Given the description of an element on the screen output the (x, y) to click on. 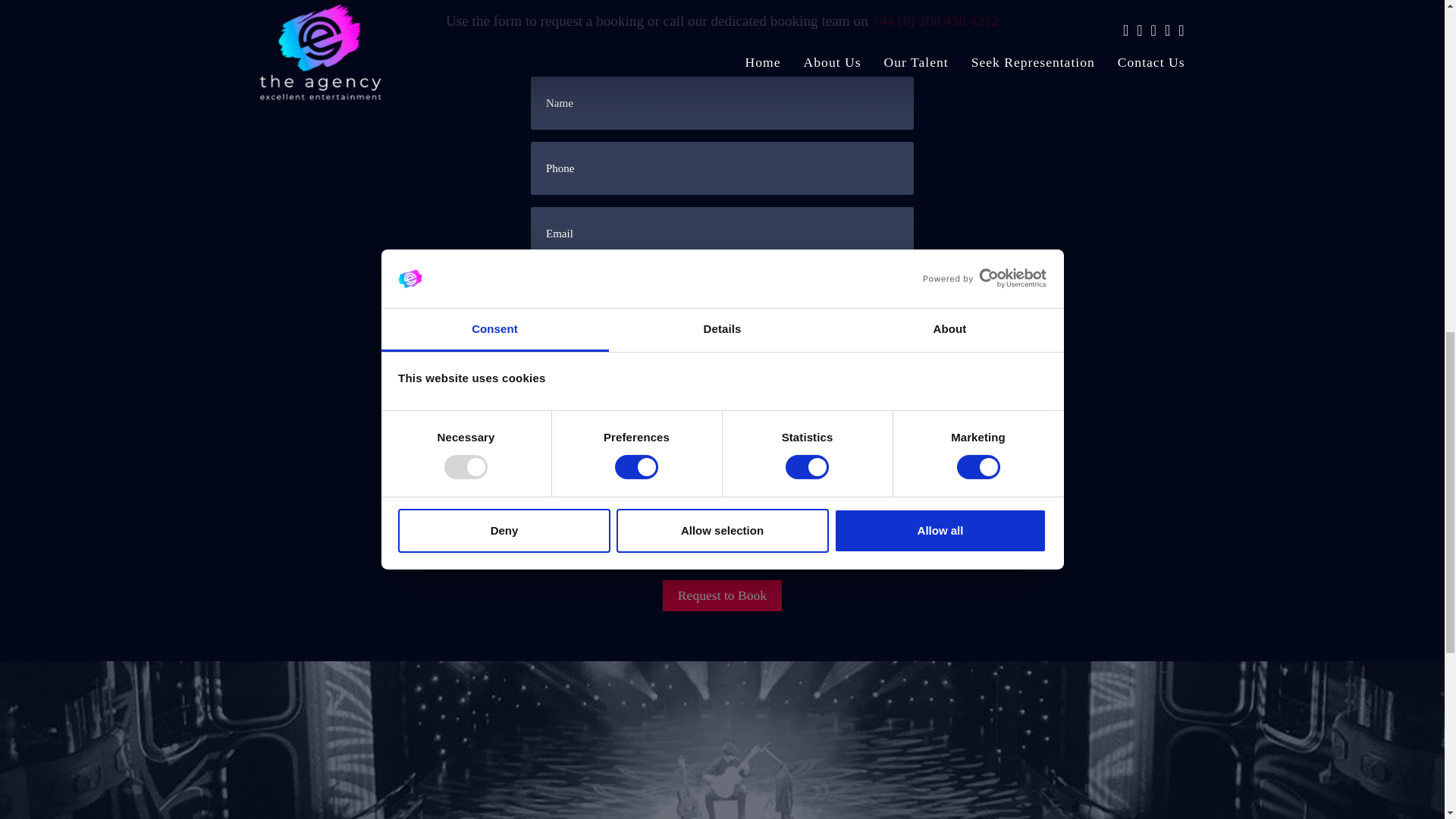
Request to Book (721, 594)
